Given the description of an element on the screen output the (x, y) to click on. 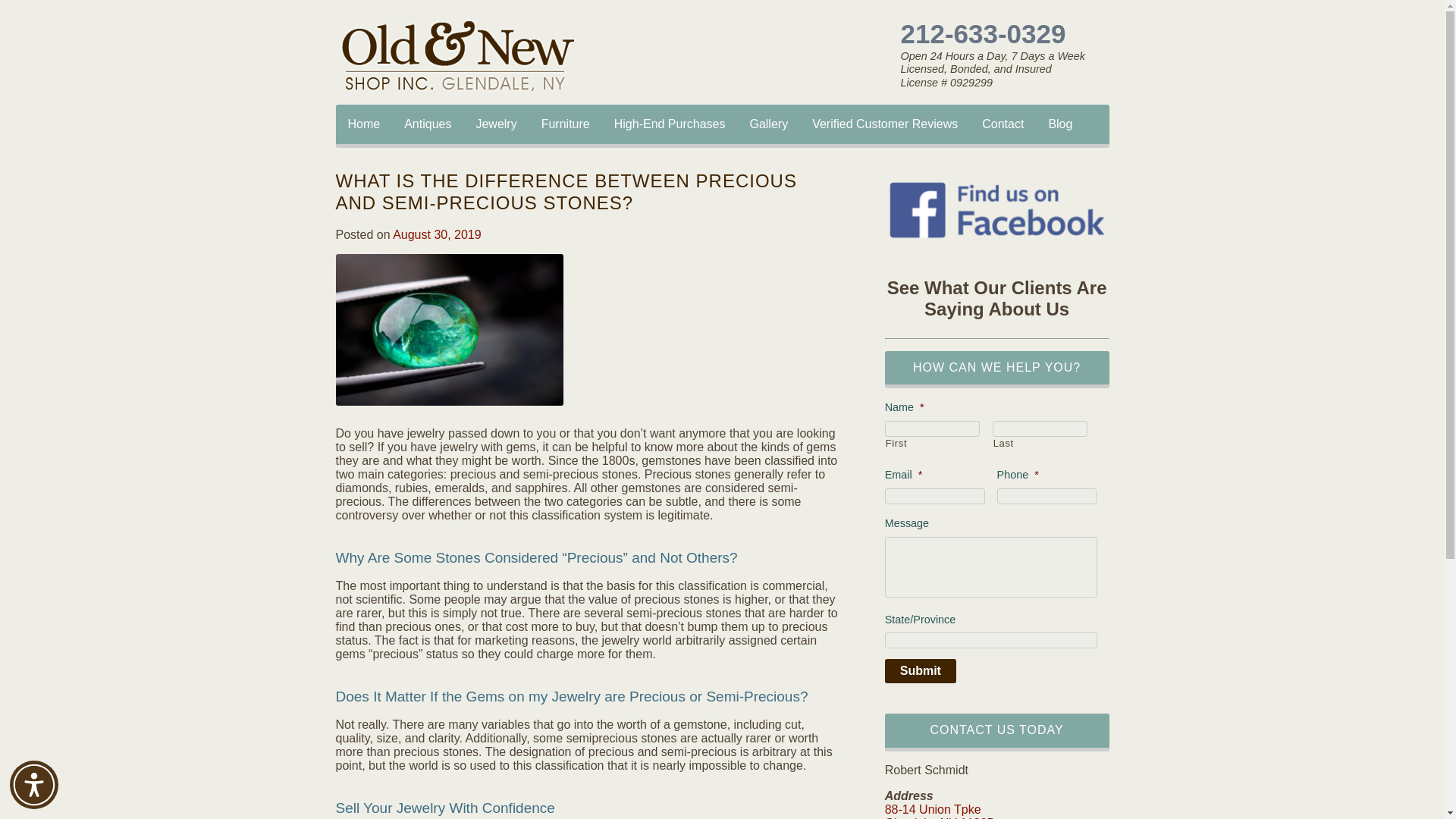
Blog (1059, 124)
88-14 Union Tpke (933, 809)
Jewelry (495, 124)
Antiques (427, 124)
Submit (920, 671)
212-633-0329 (997, 33)
Furniture (565, 124)
High-End Purchases (670, 124)
Accessibility Menu (34, 784)
Glendale, NY 11385 (939, 817)
Contact (1002, 124)
Verified Customer Reviews (884, 124)
Submit (920, 671)
Home (362, 124)
6:27 pm (437, 234)
